Given the description of an element on the screen output the (x, y) to click on. 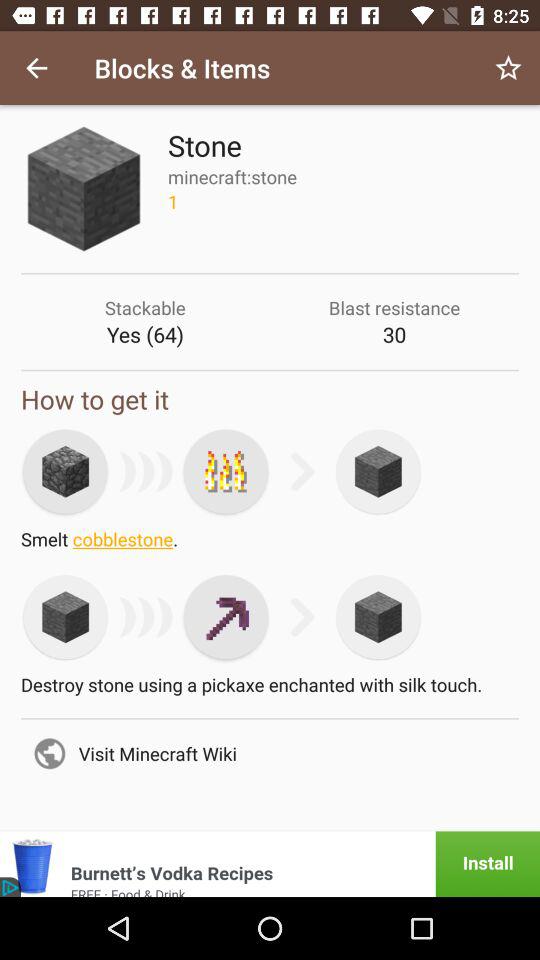
select smelt (226, 471)
